Given the description of an element on the screen output the (x, y) to click on. 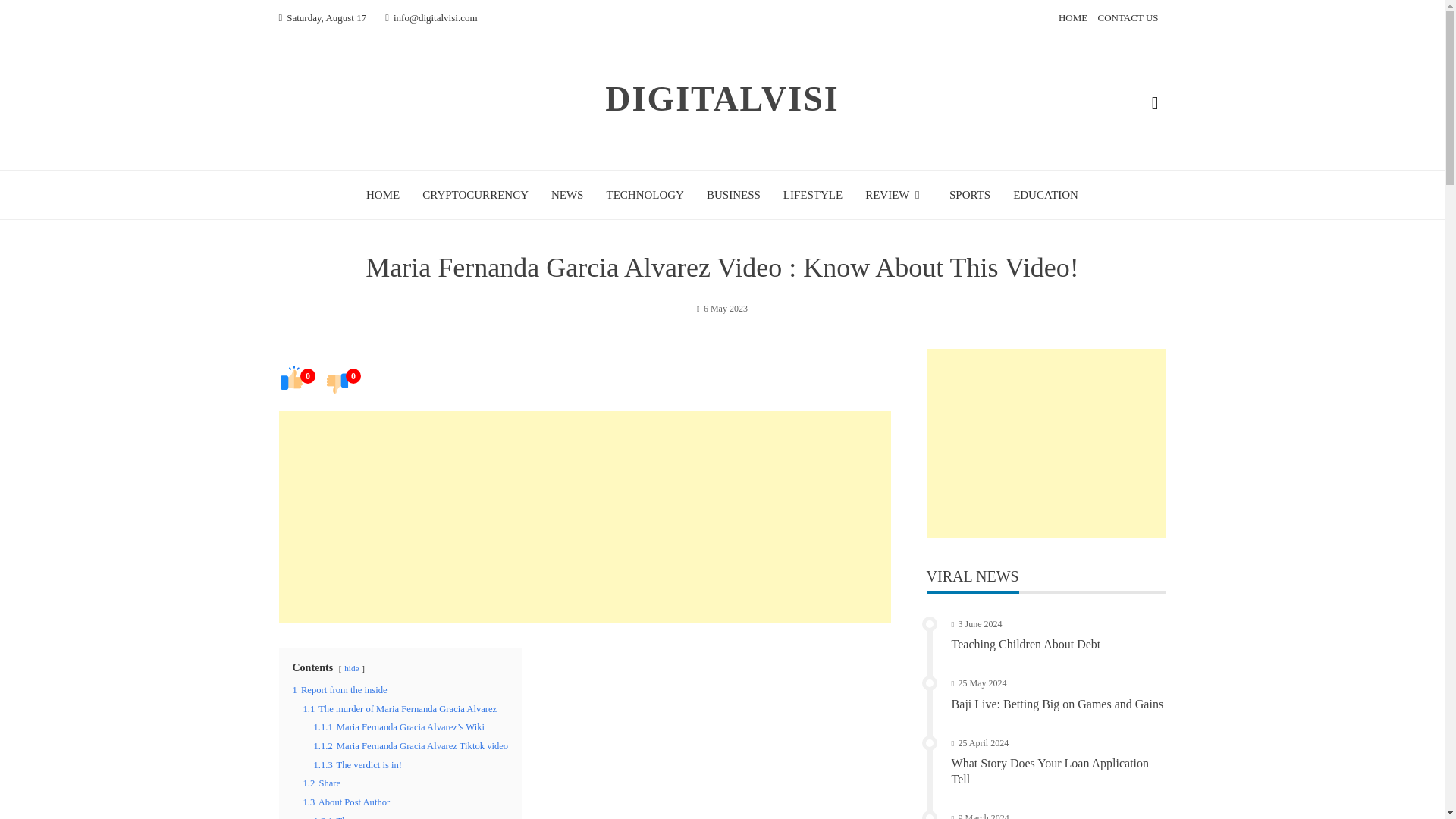
LIFESTYLE (813, 194)
1.2 Share (321, 783)
HOME (382, 194)
1.3 About Post Author (346, 801)
1.1.3 The verdict is in! (358, 765)
HOME (1072, 17)
CRYPTOCURRENCY (475, 194)
Advertisement (585, 517)
1 Report from the inside (339, 689)
1.1.2 Maria Fernanda Gracia Alvarez Tiktok video (411, 746)
